Given the description of an element on the screen output the (x, y) to click on. 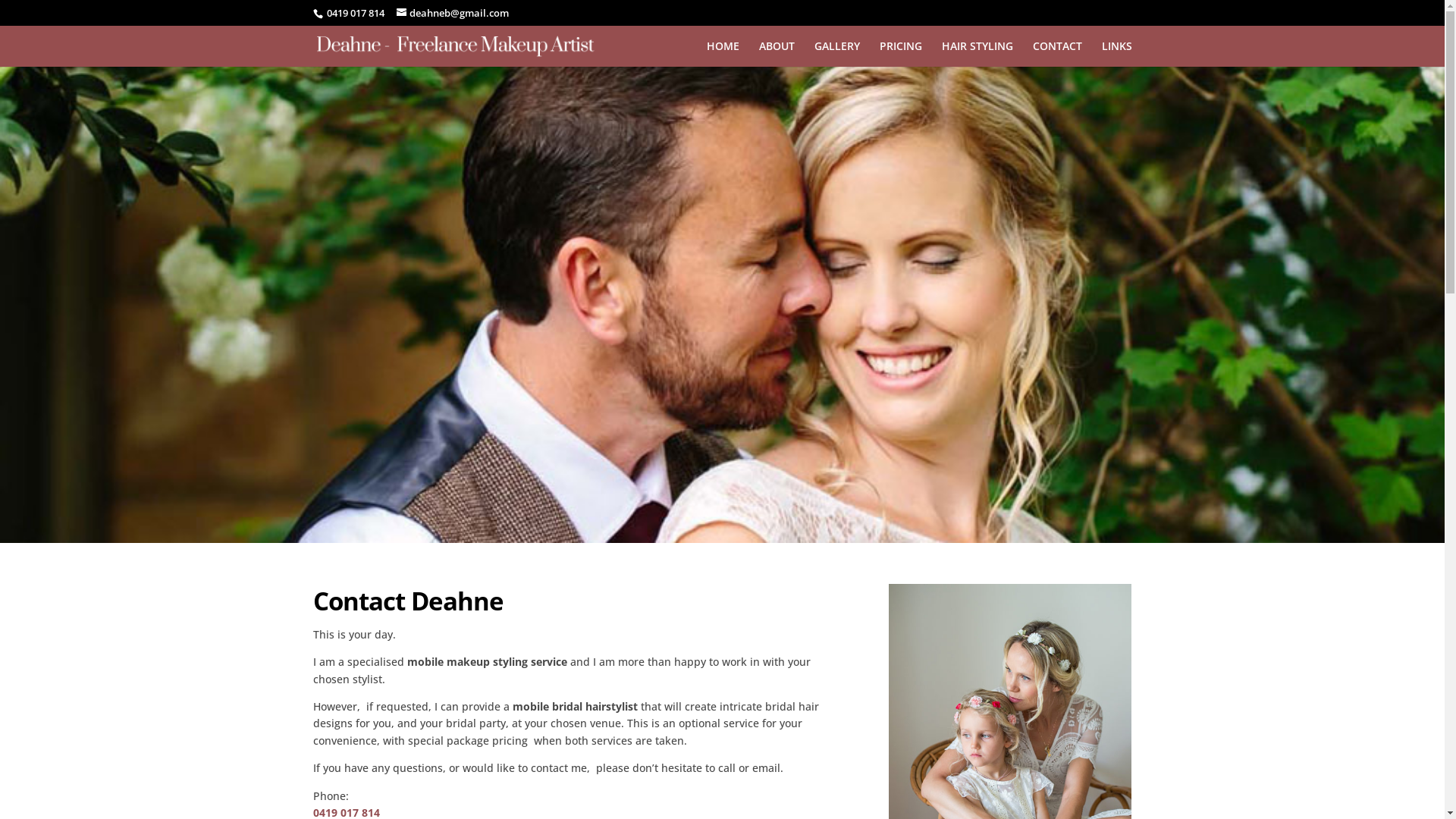
HAIR STYLING Element type: text (977, 53)
GALLERY Element type: text (836, 53)
deahneb@gmail.com Element type: text (451, 12)
CONTACT Element type: text (1057, 53)
LINKS Element type: text (1116, 53)
PRICING Element type: text (900, 53)
ABOUT Element type: text (775, 53)
HOME Element type: text (722, 53)
0419 017 814 Element type: text (354, 12)
